Given the description of an element on the screen output the (x, y) to click on. 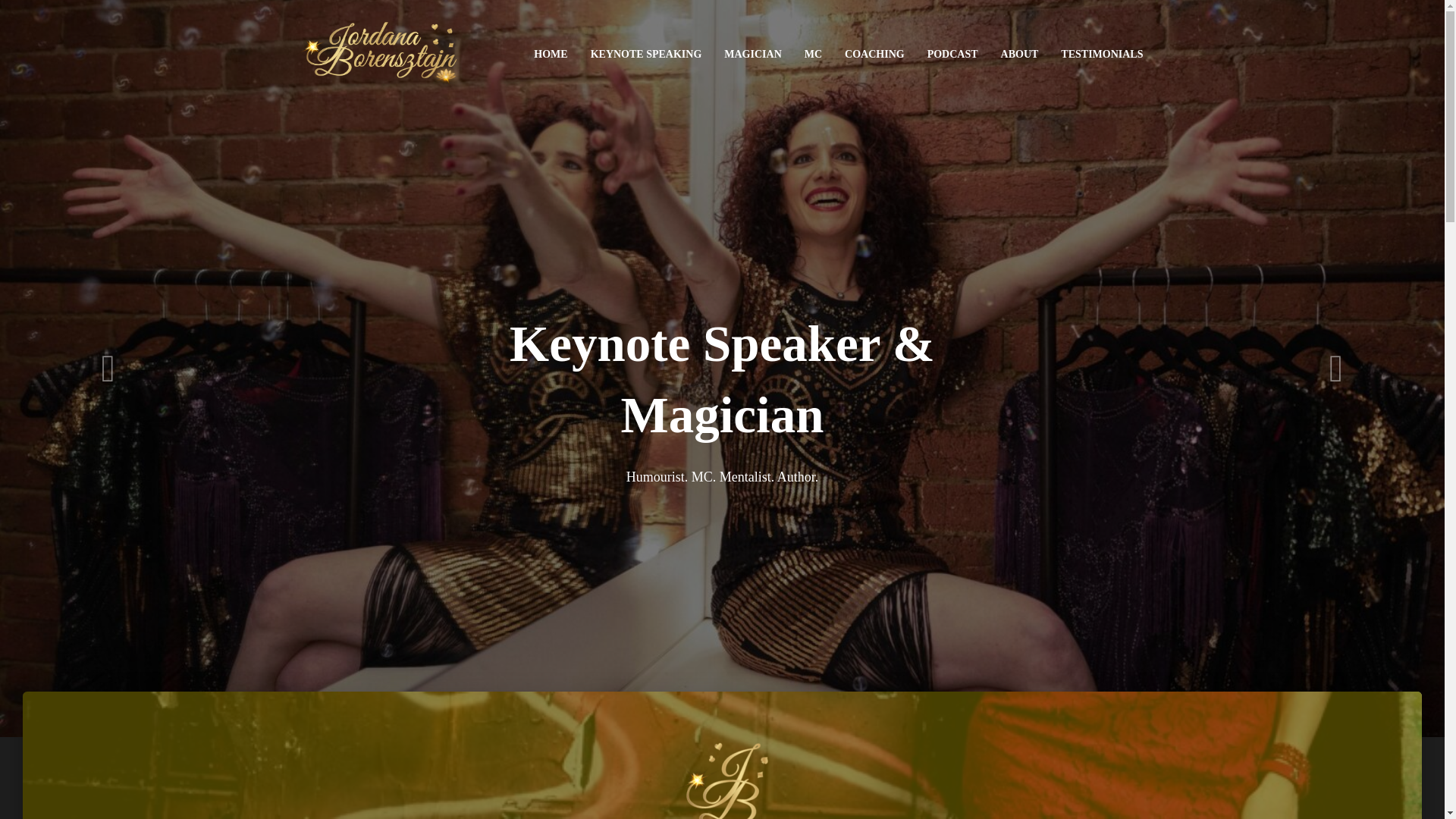
MC Element type: text (813, 54)
KEYNOTE SPEAKING Element type: text (646, 54)
TESTIMONIALS Element type: text (1101, 54)
PODCAST Element type: text (952, 54)
HOME Element type: text (550, 54)
ABOUT Element type: text (1019, 54)
COACHING Element type: text (874, 54)
MAGICIAN Element type: text (752, 54)
Jordana Borensztajn Element type: hover (379, 54)
